Given the description of an element on the screen output the (x, y) to click on. 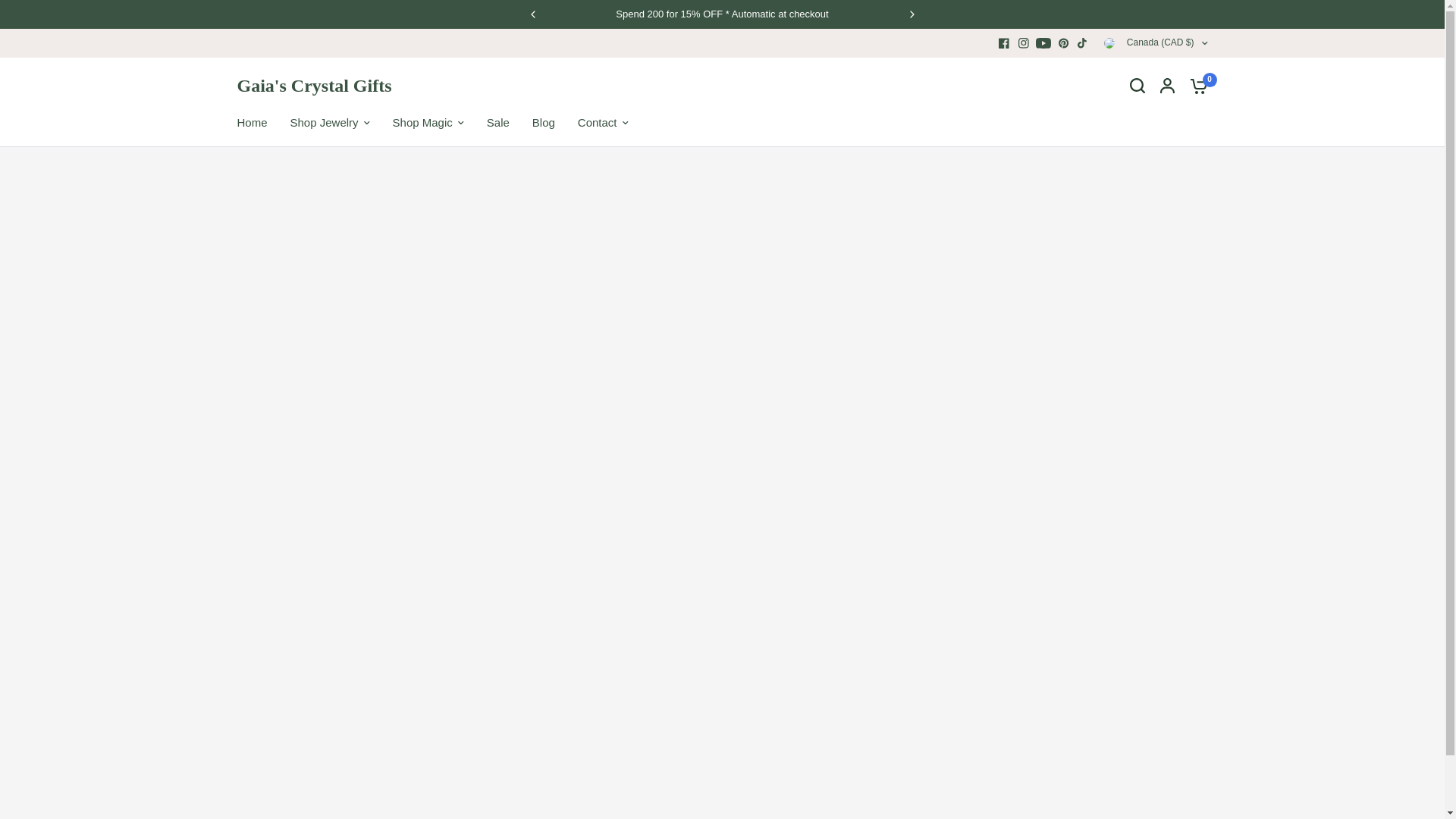
TikTok (1083, 43)
Facebook (1003, 43)
Instagram (1023, 43)
YouTube (1042, 43)
Pinterest (1062, 43)
